Given the description of an element on the screen output the (x, y) to click on. 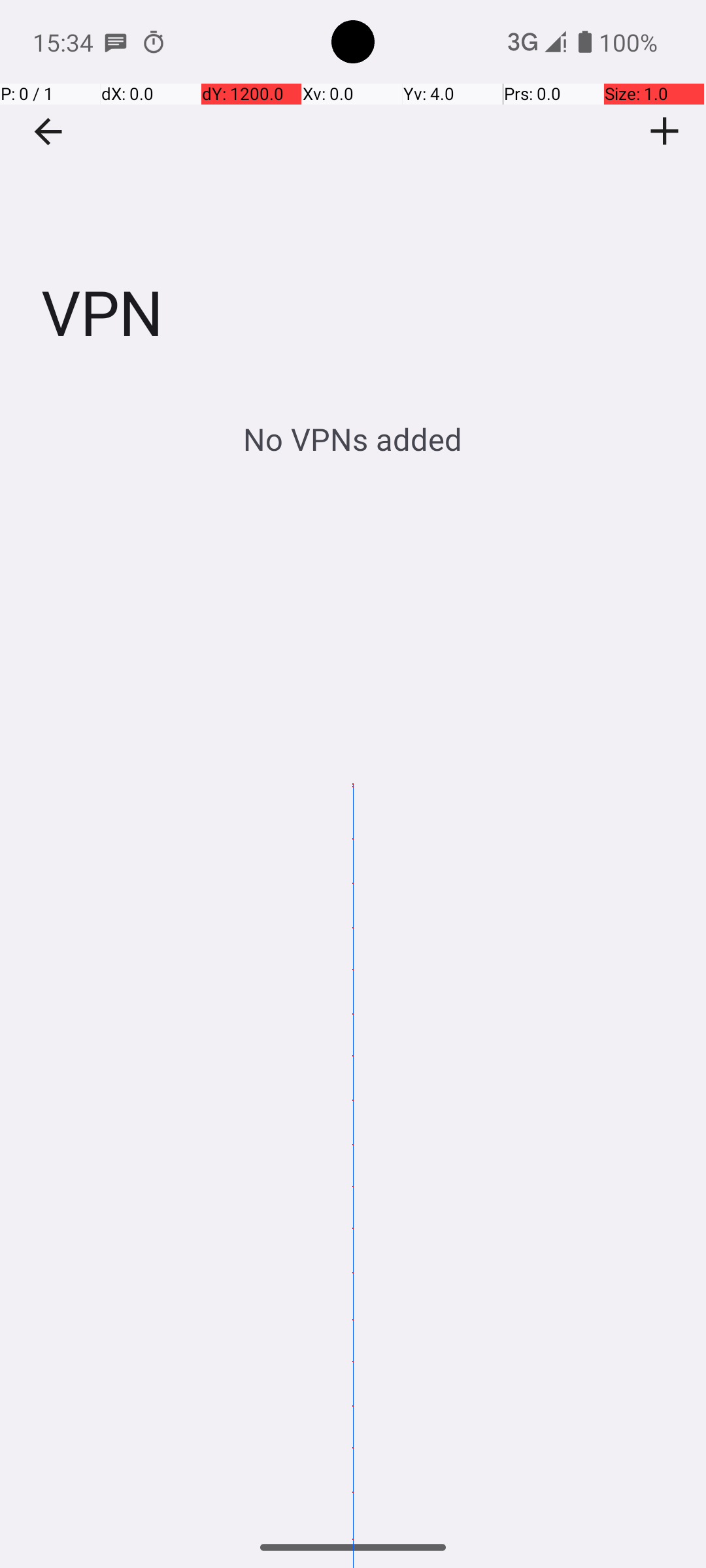
No VPNs added Element type: android.widget.TextView (352, 438)
Add VPN profile Element type: android.widget.TextView (664, 131)
